Given the description of an element on the screen output the (x, y) to click on. 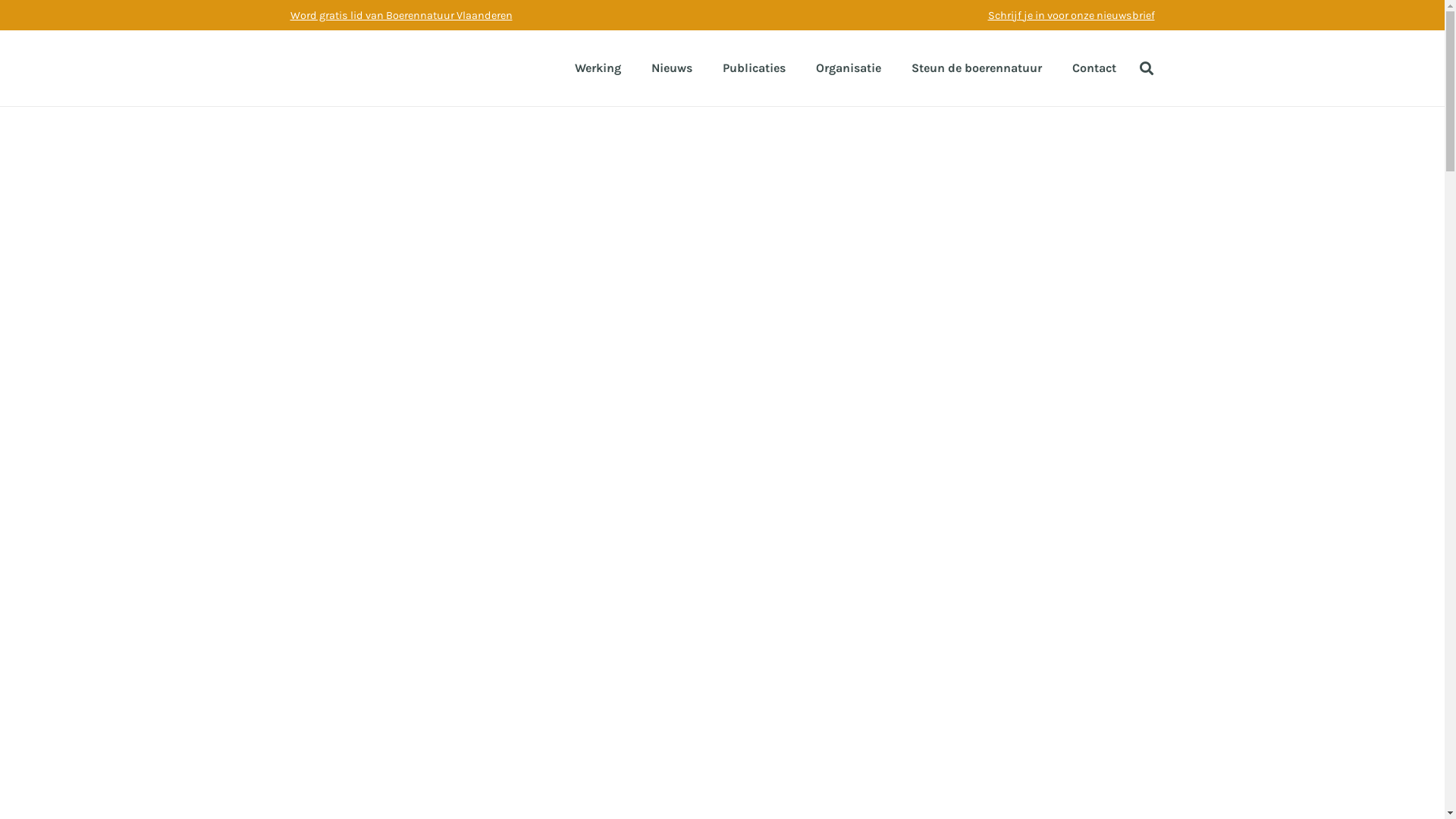
Nieuws Element type: text (671, 68)
Publicaties Element type: text (753, 68)
Contact Element type: text (1094, 68)
Schrijf je in voor onze nieuwsbrief Element type: text (1070, 15)
Steun de boerennatuur Element type: text (976, 68)
Werking Element type: text (597, 68)
Organisatie Element type: text (848, 68)
Word gratis lid van Boerennatuur Vlaanderen Element type: text (400, 15)
